Given the description of an element on the screen output the (x, y) to click on. 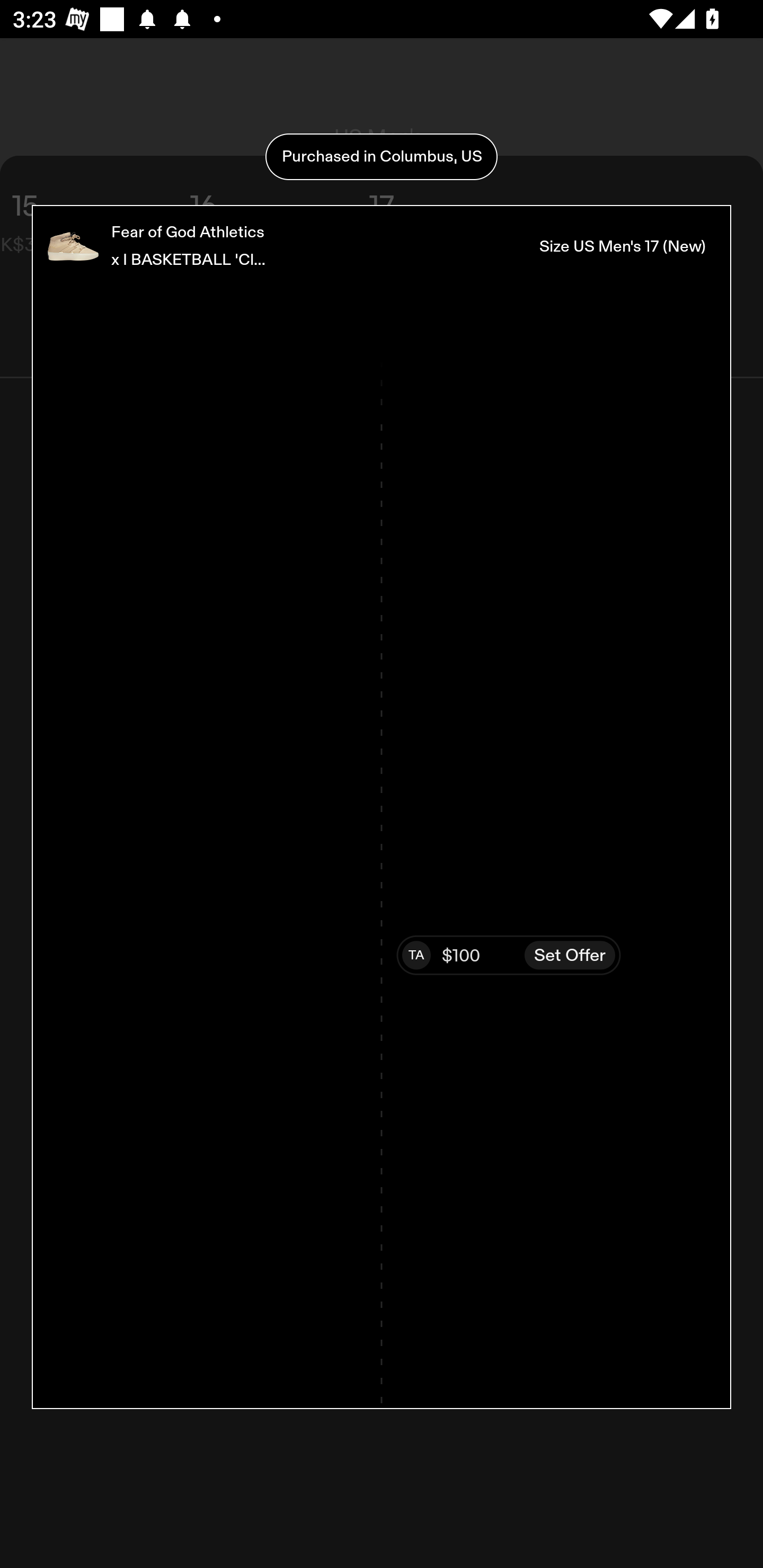
Purchased in Columbus, US (381, 156)
